Given the description of an element on the screen output the (x, y) to click on. 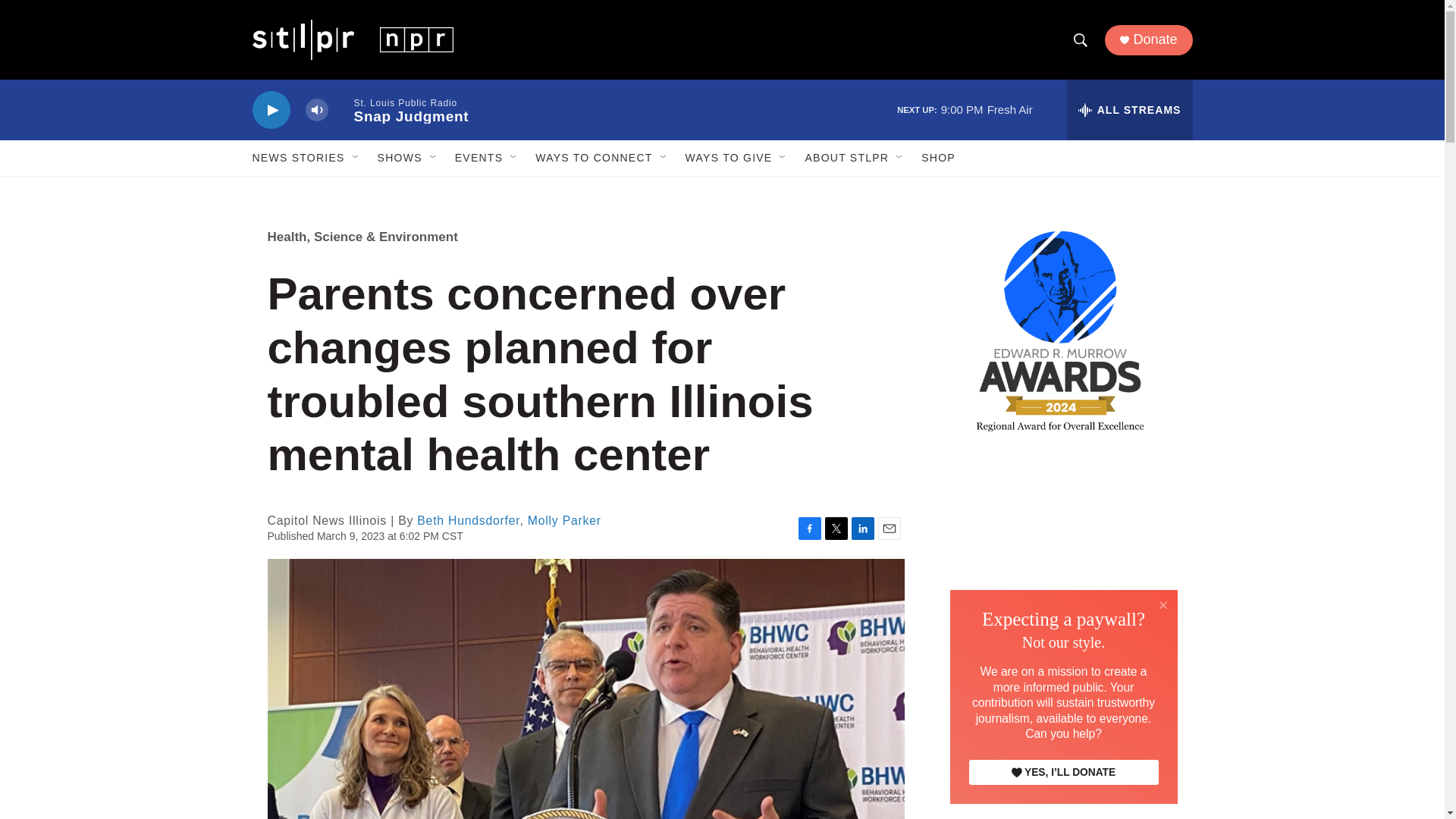
Close (1162, 605)
Close (1162, 604)
3rd party ad content (1062, 566)
